Given the description of an element on the screen output the (x, y) to click on. 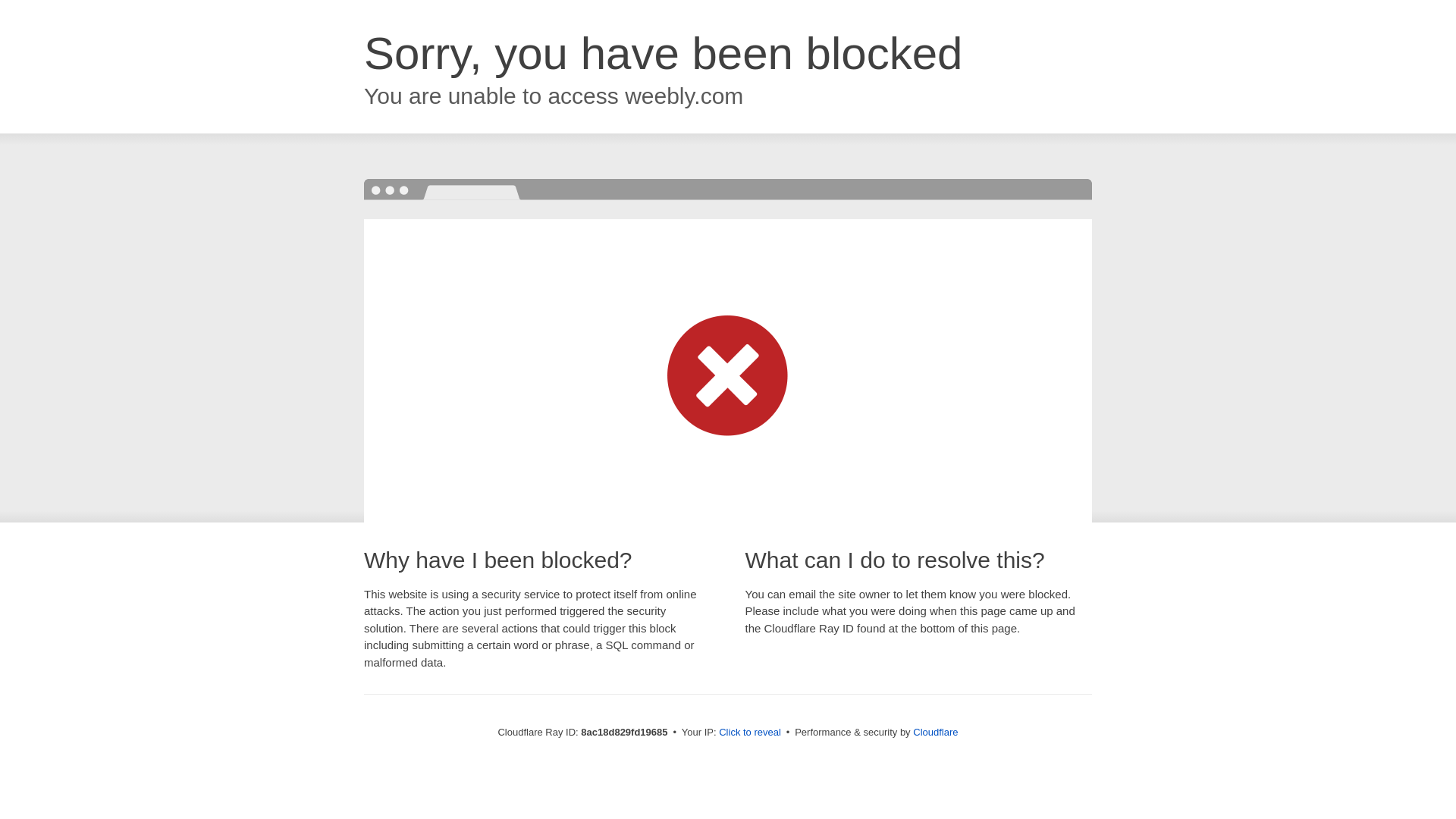
Cloudflare (935, 731)
Click to reveal (749, 732)
